Given the description of an element on the screen output the (x, y) to click on. 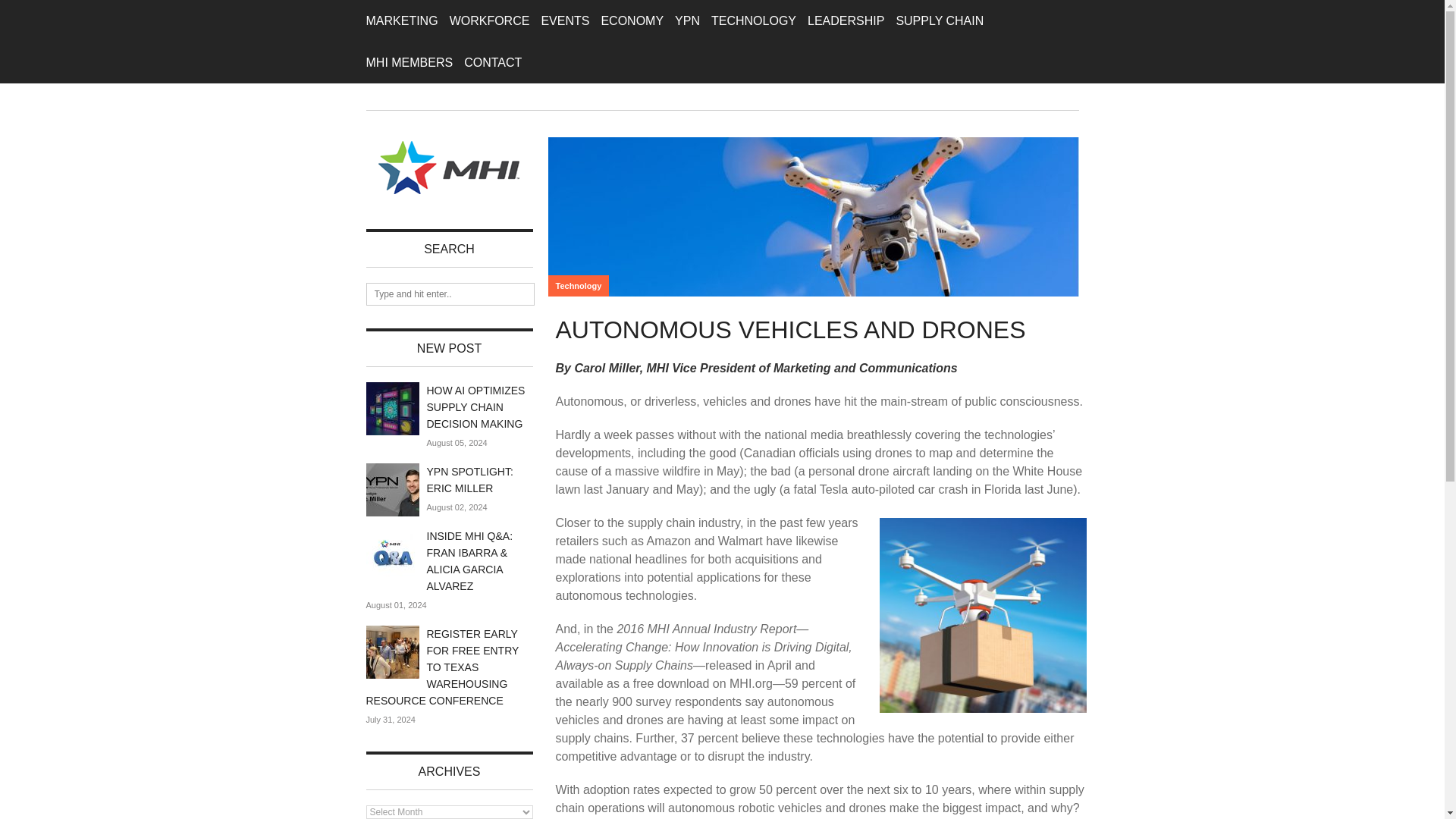
YPN Spotlight: Eric Miller (469, 480)
MARKETING (401, 20)
SUPPLY CHAIN (939, 20)
Technology (577, 285)
CONTACT (492, 62)
Type and hit enter.. (449, 293)
Permalink to How AI Optimizes Supply Chain Decision Making (392, 408)
LEADERSHIP (845, 20)
